Given the description of an element on the screen output the (x, y) to click on. 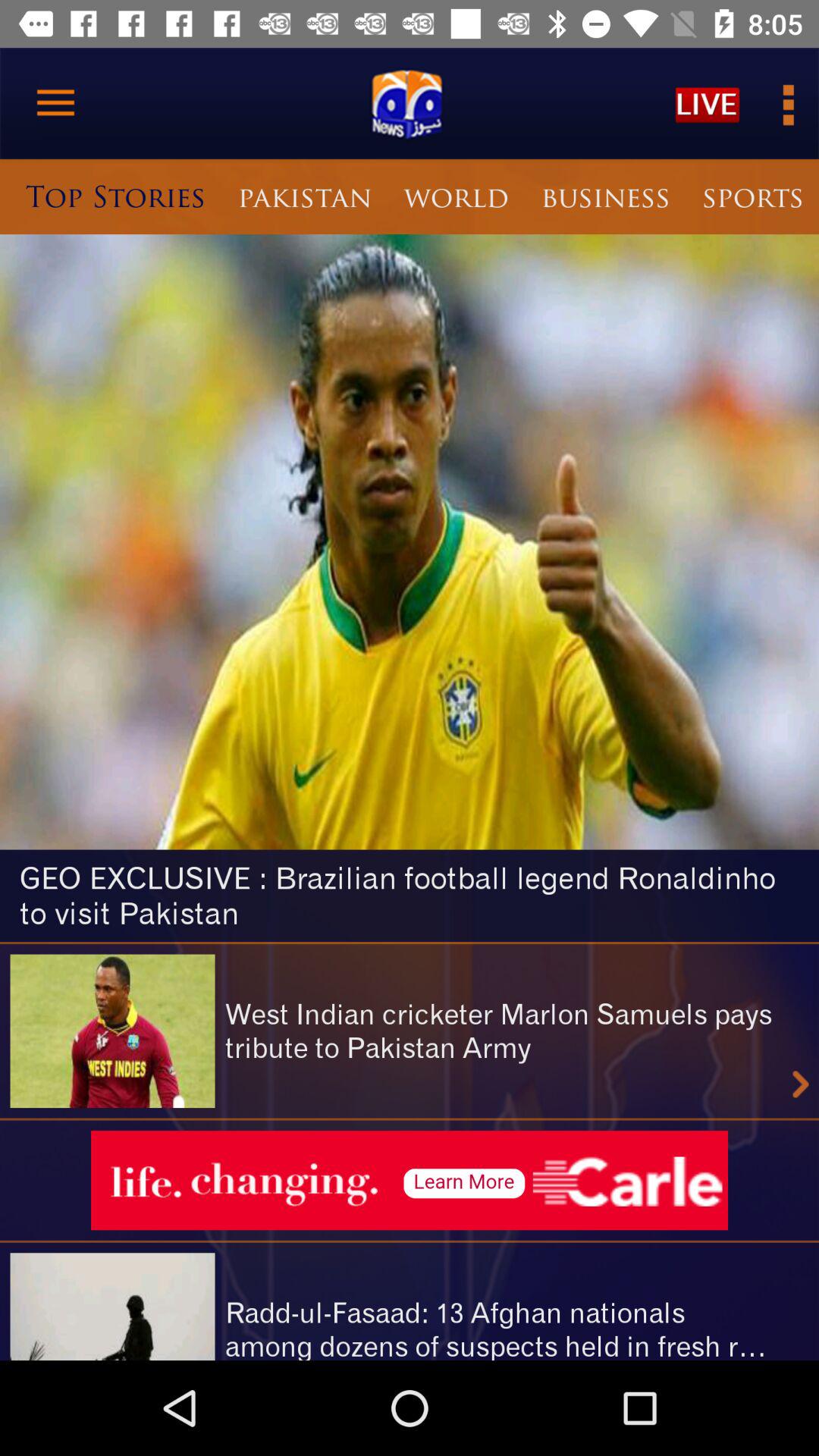
go to advertisement page (409, 1180)
